Given the description of an element on the screen output the (x, y) to click on. 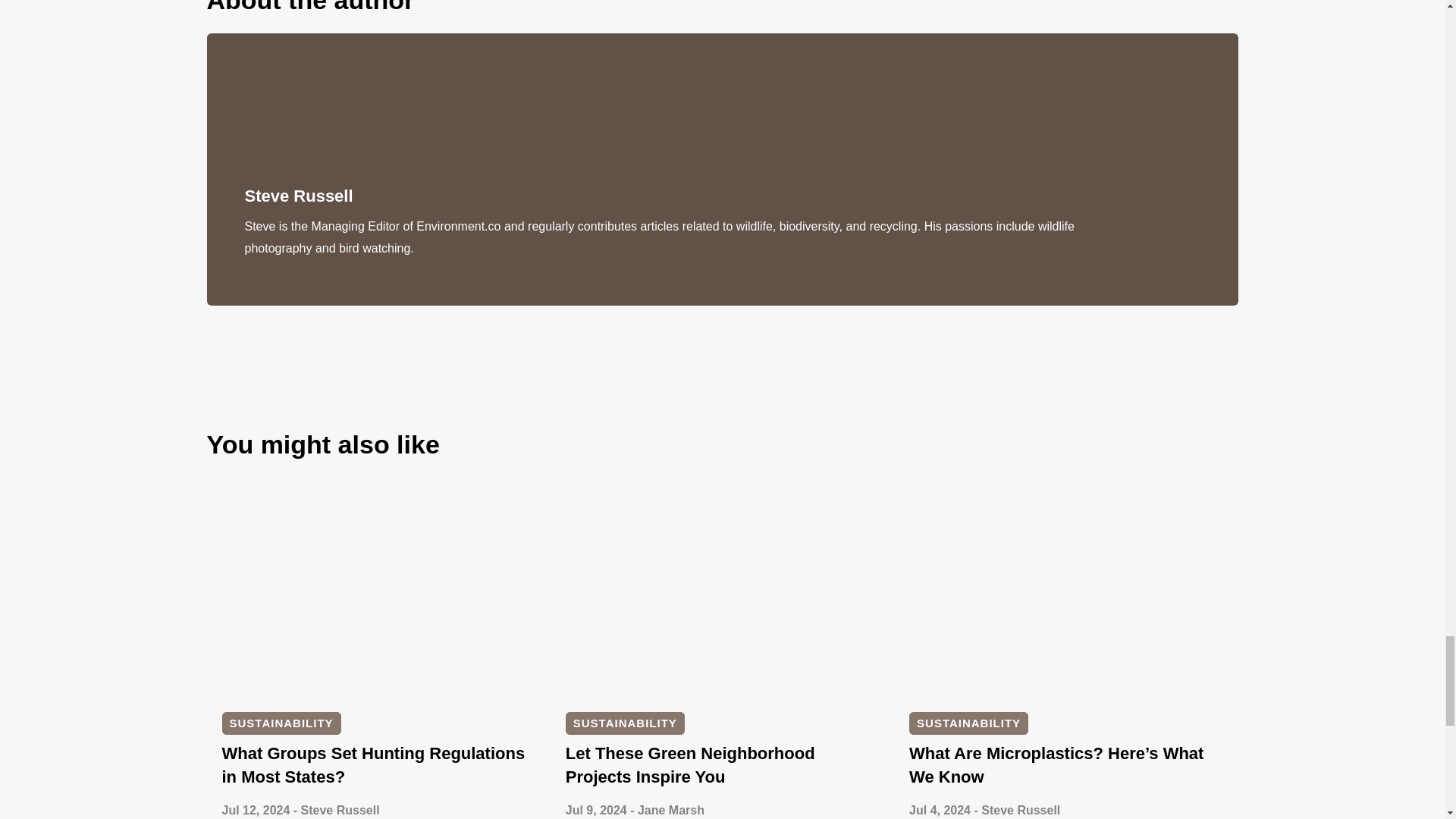
Let These Green Neighborhood Projects Inspire You (690, 764)
What Groups Set Hunting Regulations in Most States? (372, 764)
SUSTAINABILITY (280, 722)
